Given the description of an element on the screen output the (x, y) to click on. 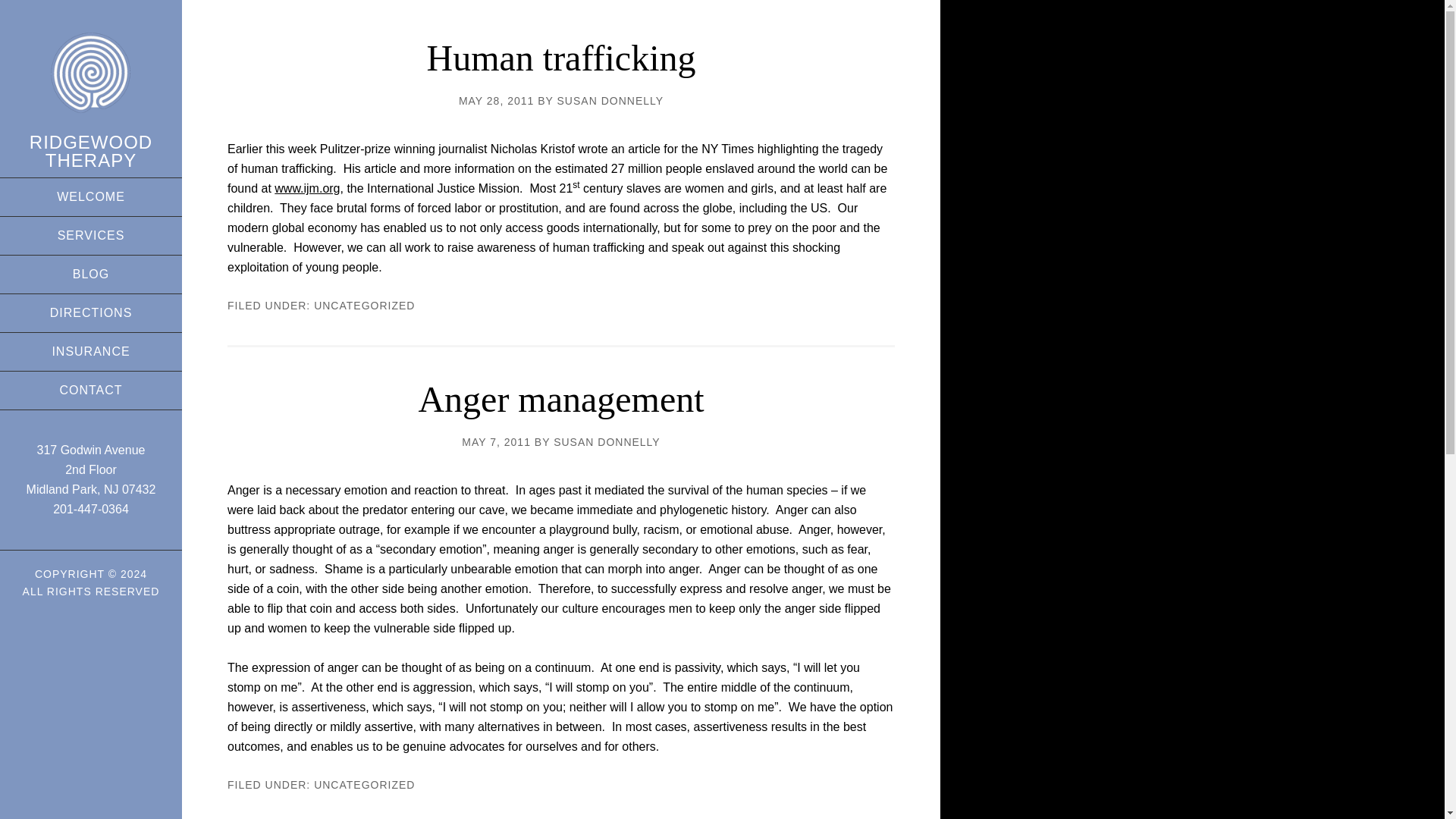
SUSAN DONNELLY (610, 101)
CONTACT (91, 390)
INSURANCE (91, 351)
SERVICES (91, 235)
RIDGEWOOD THERAPY (90, 150)
SUSAN DONNELLY (607, 441)
UNCATEGORIZED (364, 784)
Human trafficking (560, 57)
WELCOME (91, 197)
UNCATEGORIZED (364, 305)
